Given the description of an element on the screen output the (x, y) to click on. 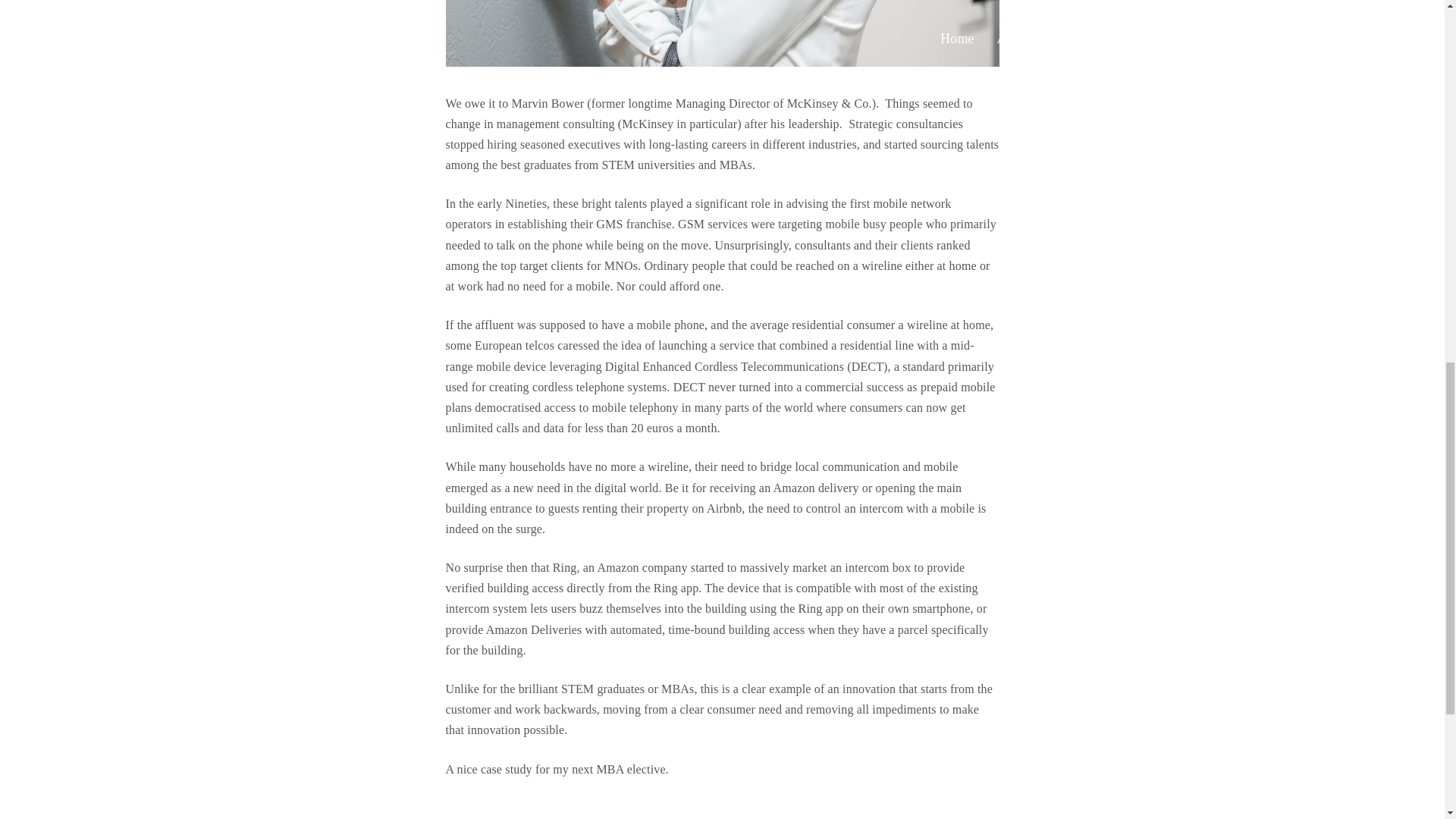
RIng (721, 33)
